Given the description of an element on the screen output the (x, y) to click on. 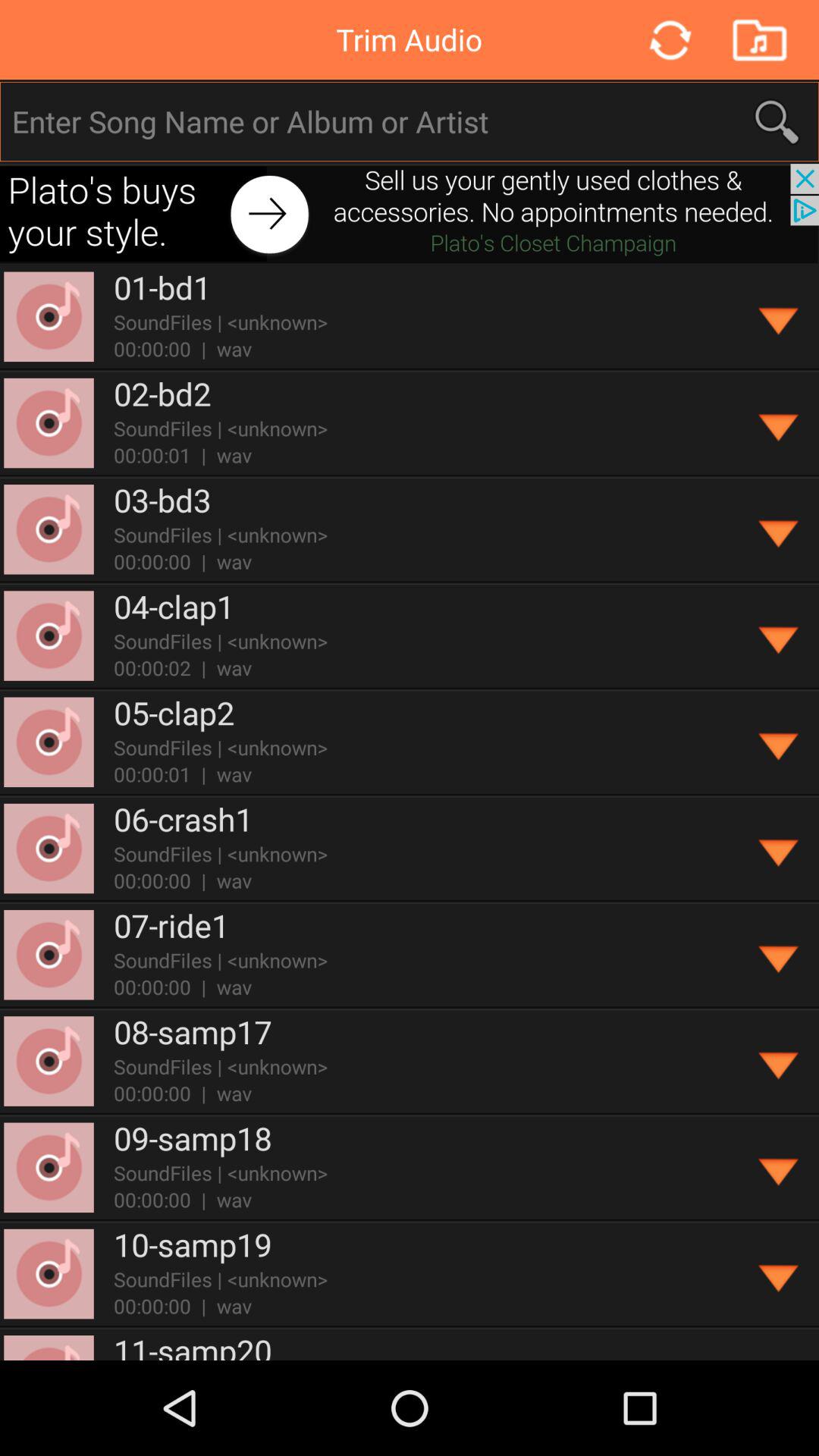
more option (779, 316)
